Given the description of an element on the screen output the (x, y) to click on. 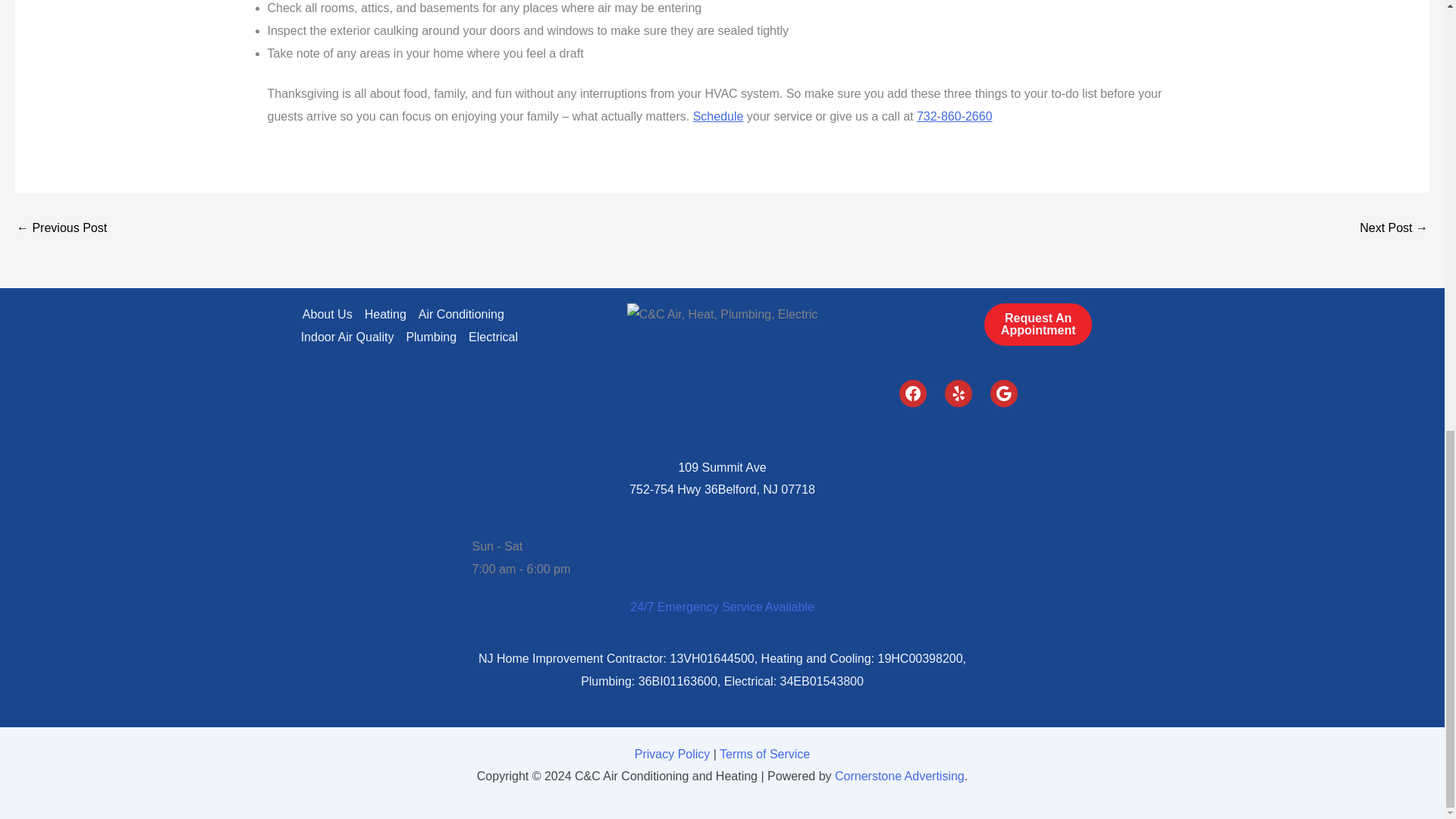
How Safe Is New Jersey Water? (1393, 227)
